Given the description of an element on the screen output the (x, y) to click on. 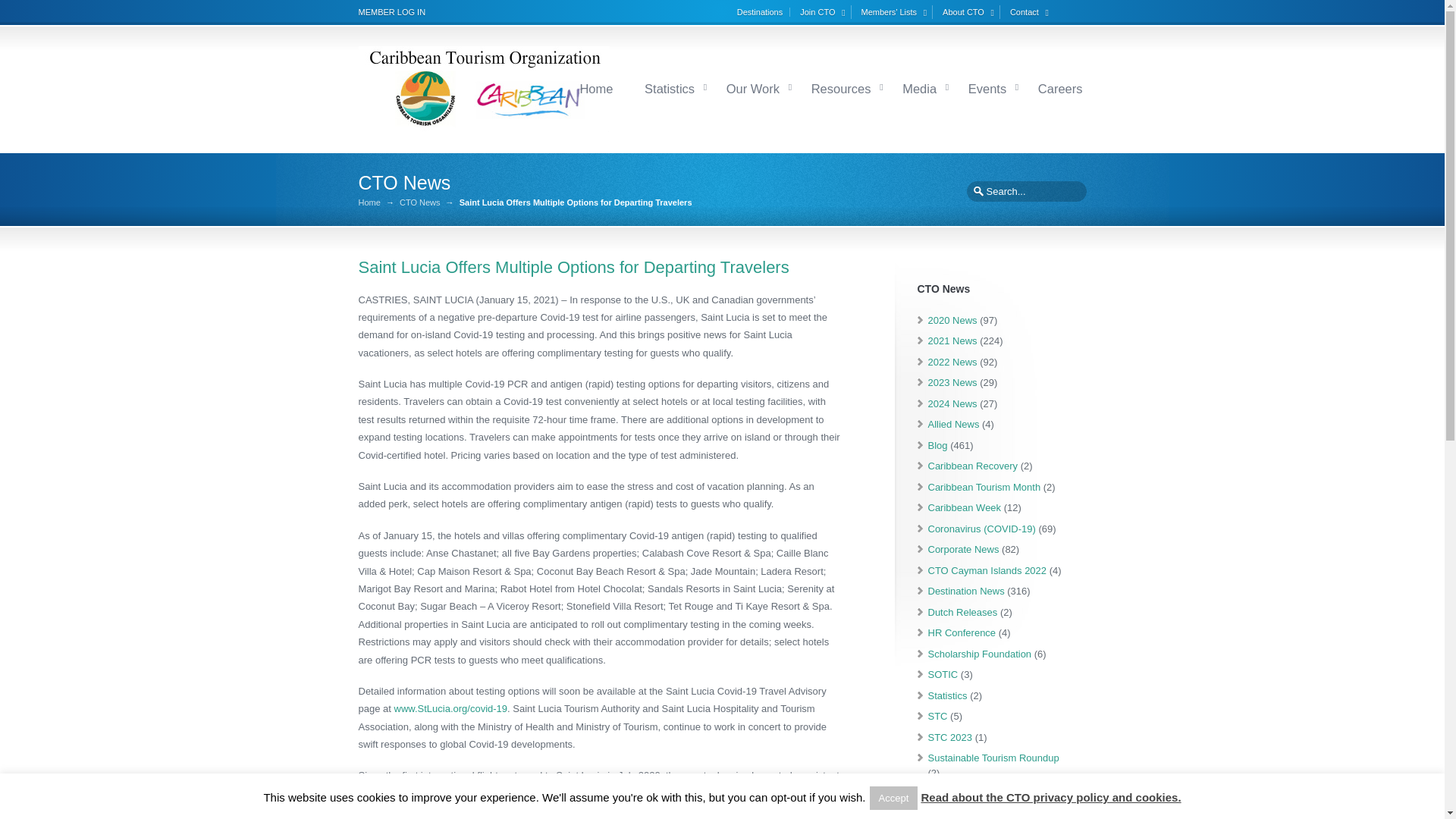
Search... (1024, 190)
Our Work (752, 88)
Statistics (669, 88)
Contact (1030, 11)
Home (595, 88)
MEMBER LOG IN (391, 11)
MEMBER LOG IN (391, 11)
Join CTO (823, 11)
Resources (841, 88)
Destinations (763, 11)
About CTO (970, 11)
